Given the description of an element on the screen output the (x, y) to click on. 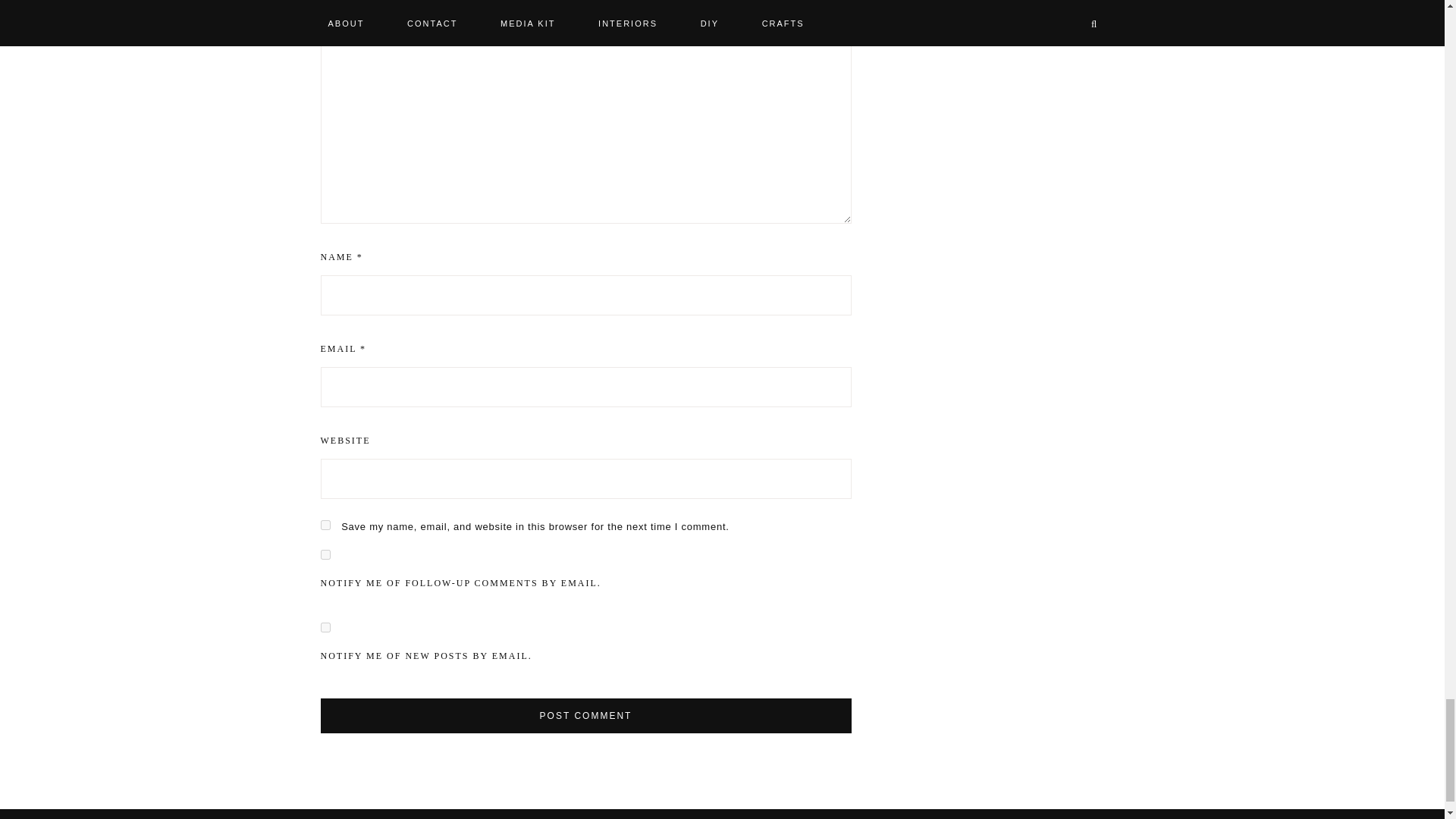
Post Comment (585, 715)
yes (325, 524)
subscribe (325, 627)
subscribe (325, 554)
